Given the description of an element on the screen output the (x, y) to click on. 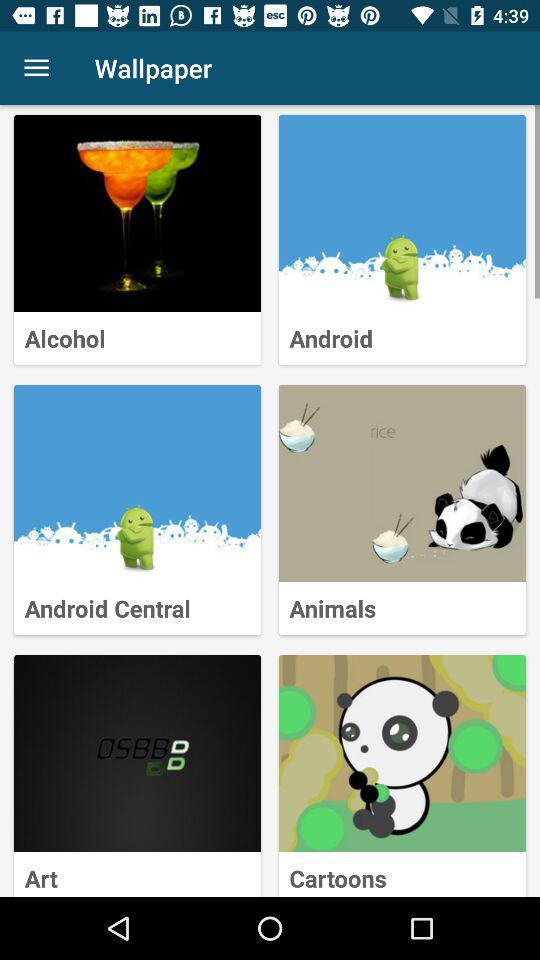
view images in this category (137, 213)
